Given the description of an element on the screen output the (x, y) to click on. 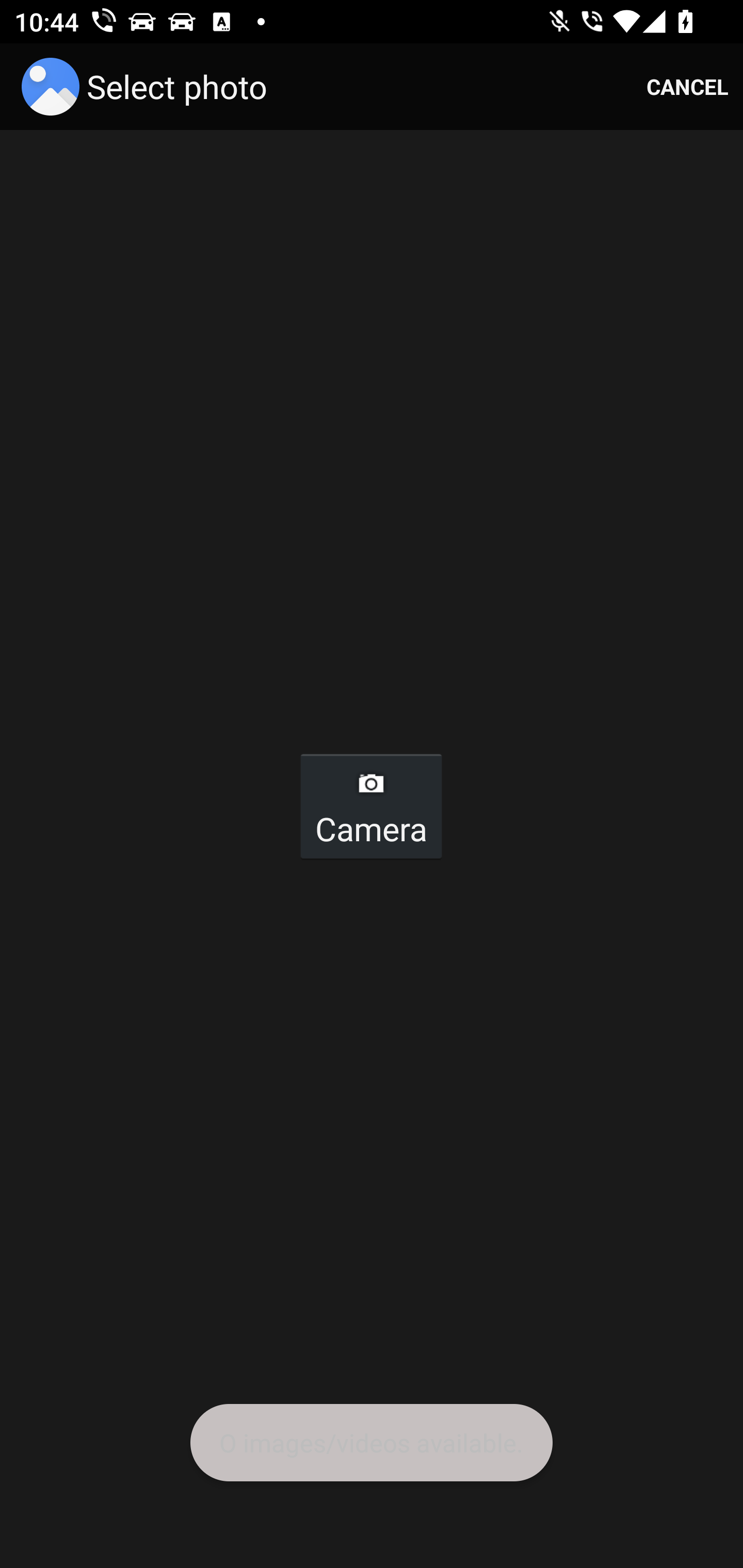
Select photo (148, 86)
CANCEL (687, 86)
Camera (370, 805)
